Given the description of an element on the screen output the (x, y) to click on. 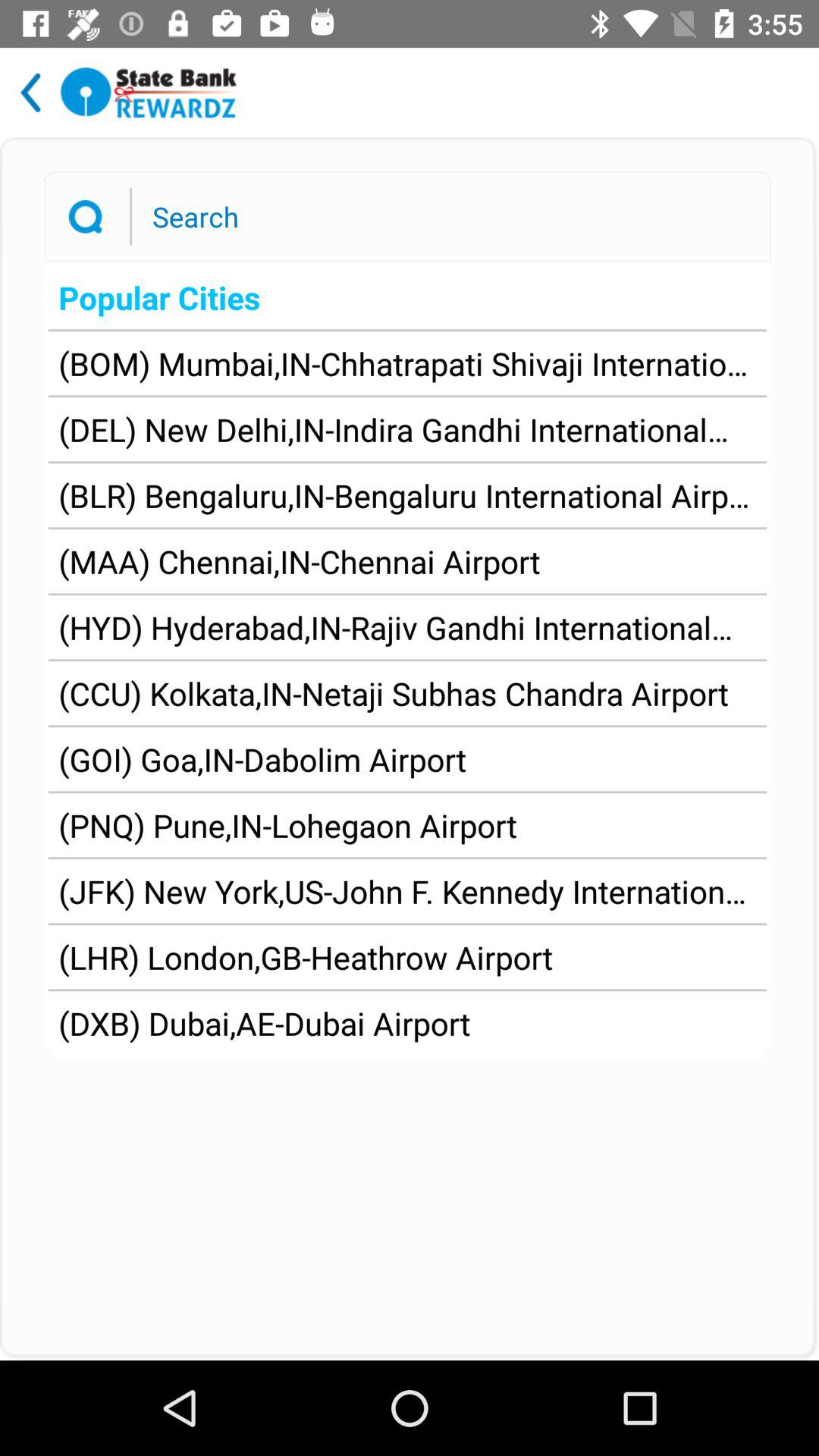
click item above ccu kolkata in icon (407, 626)
